Given the description of an element on the screen output the (x, y) to click on. 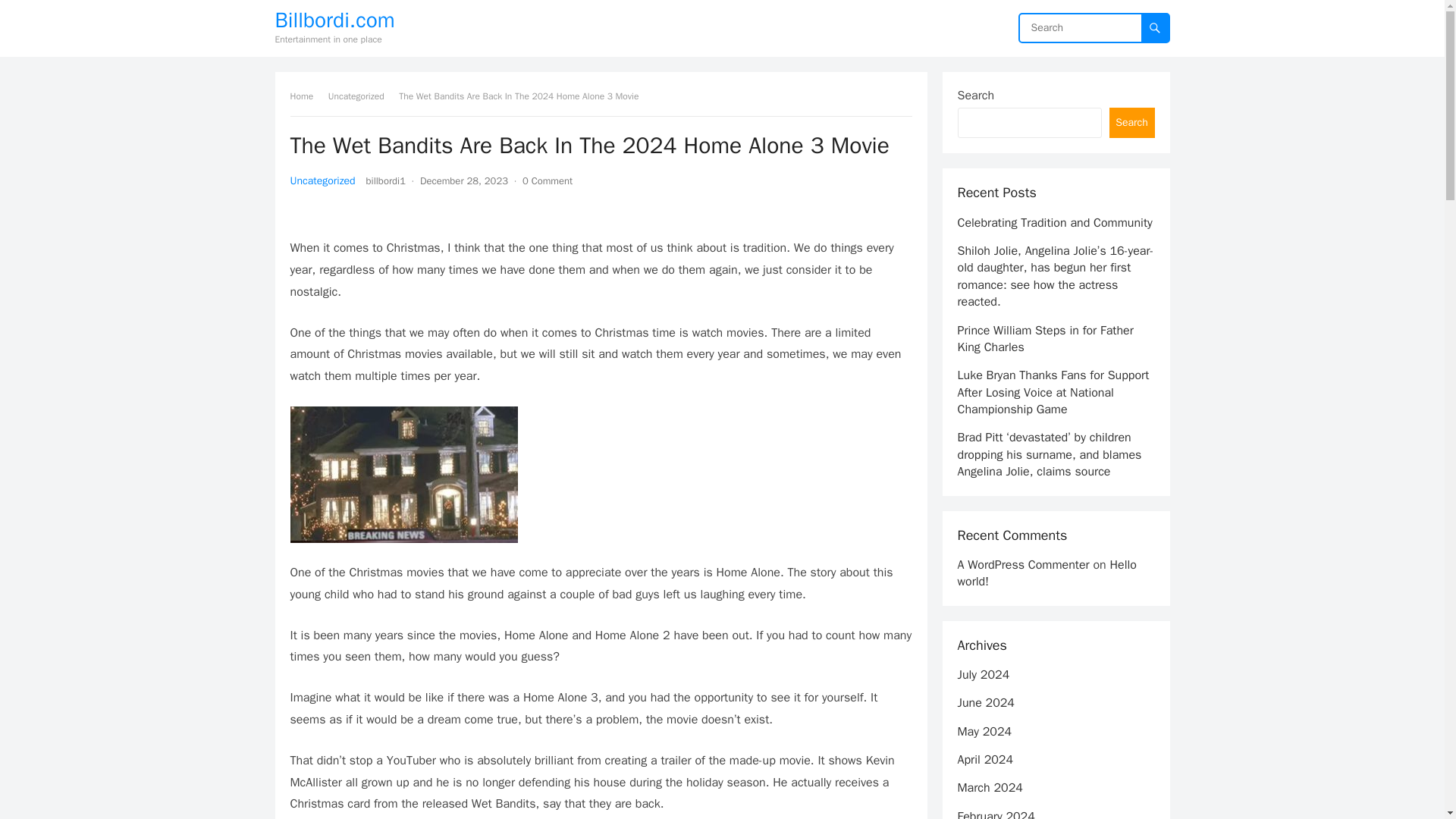
Home (306, 96)
Posts by billbordi1 (386, 180)
billbordi1 (386, 180)
Billbordi.com (334, 20)
Uncategorized (322, 180)
Uncategorized (361, 96)
0 Comment (547, 180)
